Given the description of an element on the screen output the (x, y) to click on. 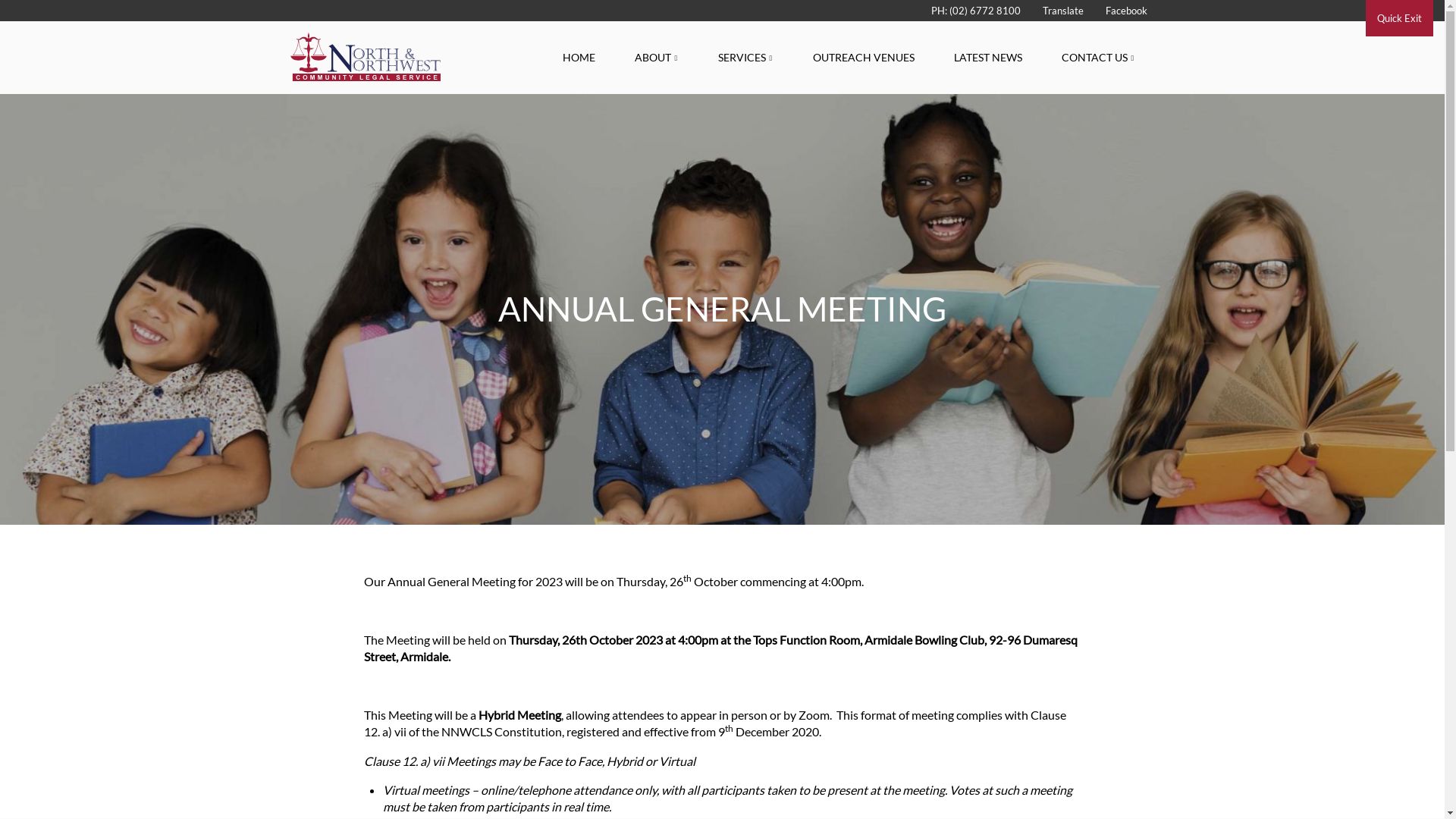
Quick Exit Element type: text (1399, 18)
  Translate Element type: text (1059, 10)
ABOUT Element type: text (655, 57)
  Facebook Element type: text (1123, 10)
LATEST NEWS Element type: text (987, 57)
OUTREACH VENUES Element type: text (863, 57)
HOME Element type: text (578, 57)
SERVICES Element type: text (744, 57)
  PH: (02) 6772 8100 Element type: text (973, 10)
CONTACT US Element type: text (1097, 57)
